Given the description of an element on the screen output the (x, y) to click on. 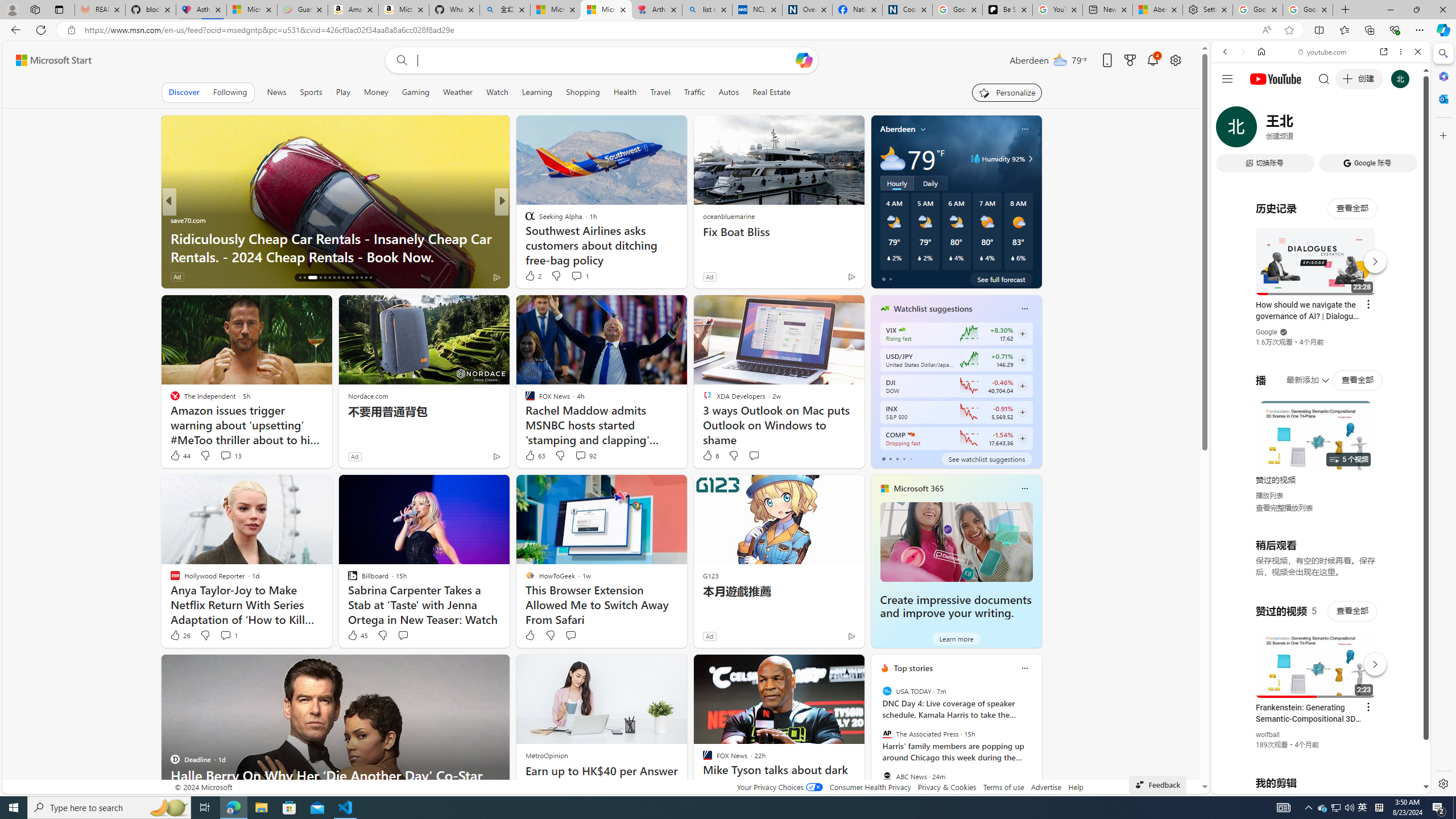
CNN (524, 219)
Search Filter, IMAGES (1262, 129)
Search videos from youtube.com (1299, 373)
Traffic (694, 92)
Real Estate (771, 92)
Play (342, 92)
How I Got Rid of Microsoft Edge's Unnecessary Features (684, 247)
